Given the description of an element on the screen output the (x, y) to click on. 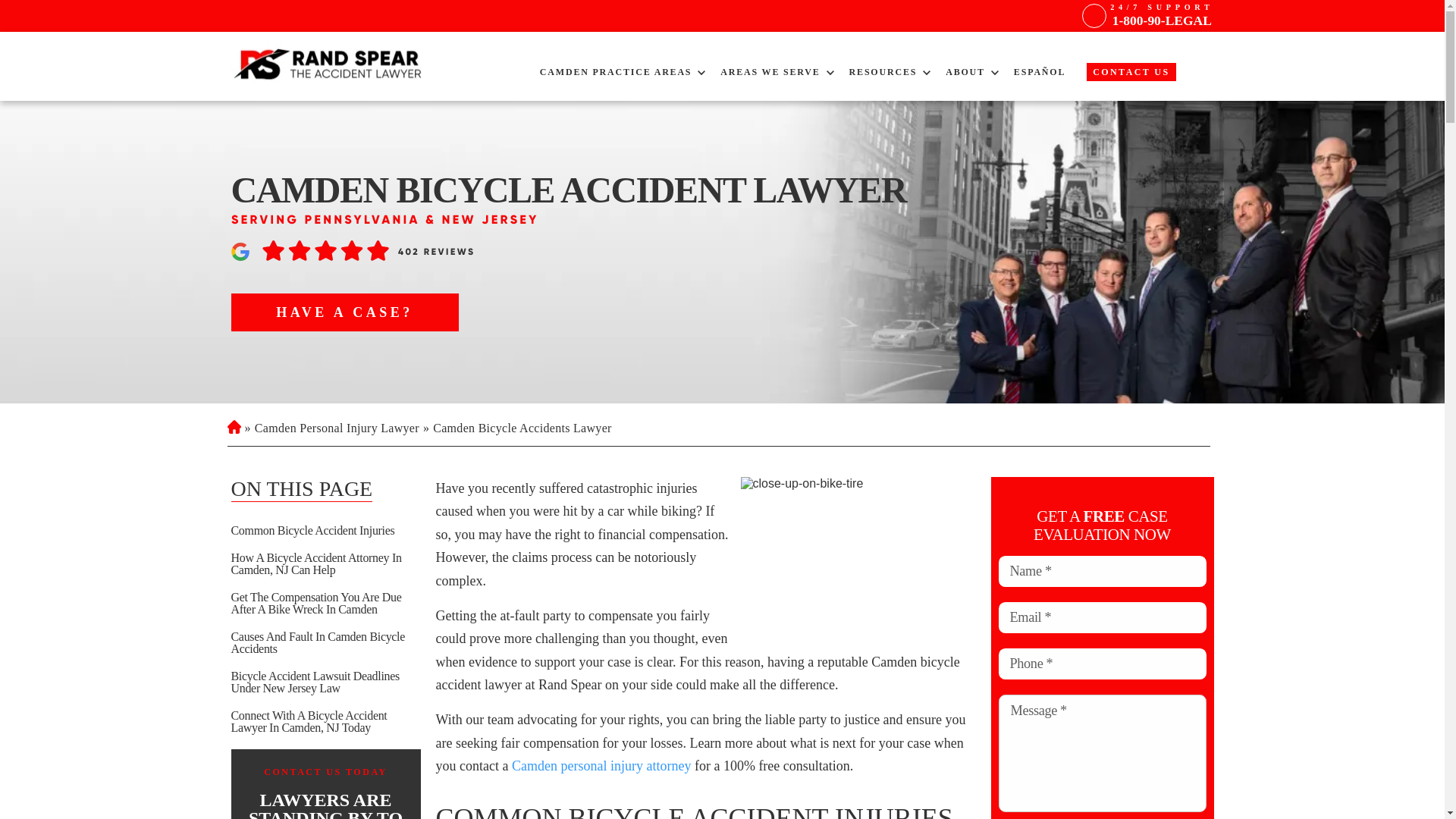
Common Bicycle Accident Injuries  (325, 530)
How A Bicycle Accident Attorney In Camden, NJ Can Help (325, 564)
Causes And Fault In Camden Bicycle Accidents  (325, 642)
HAVE A CASE? (344, 312)
ABOUT (964, 71)
RESOURCES (882, 71)
Open Search (1200, 76)
Connect With A Bicycle Accident Lawyer In Camden, NJ Today (325, 721)
CAMDEN PRACTICE AREAS (615, 71)
Rand Spear (329, 64)
AREAS WE SERVE (769, 71)
Call to Rand Spear (1160, 15)
Bicycle Accident Lawsuit Deadlines Under New Jersey Law   (325, 682)
Contact Us (1130, 72)
